Given the description of an element on the screen output the (x, y) to click on. 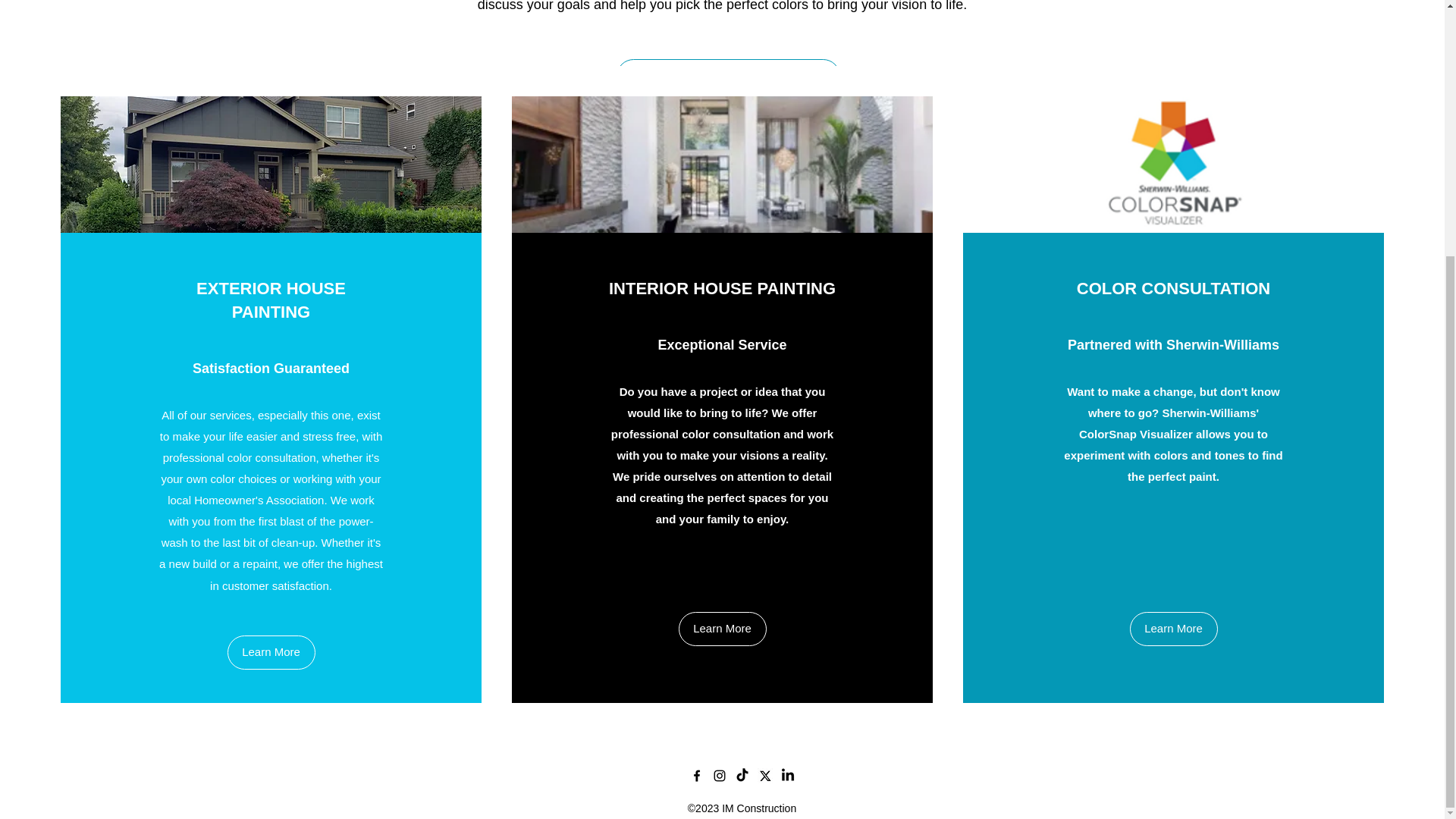
Learn More (1173, 628)
CONTACT US FOR A FREE ESTIMATE (727, 75)
Learn More (721, 628)
Learn More (271, 652)
